Given the description of an element on the screen output the (x, y) to click on. 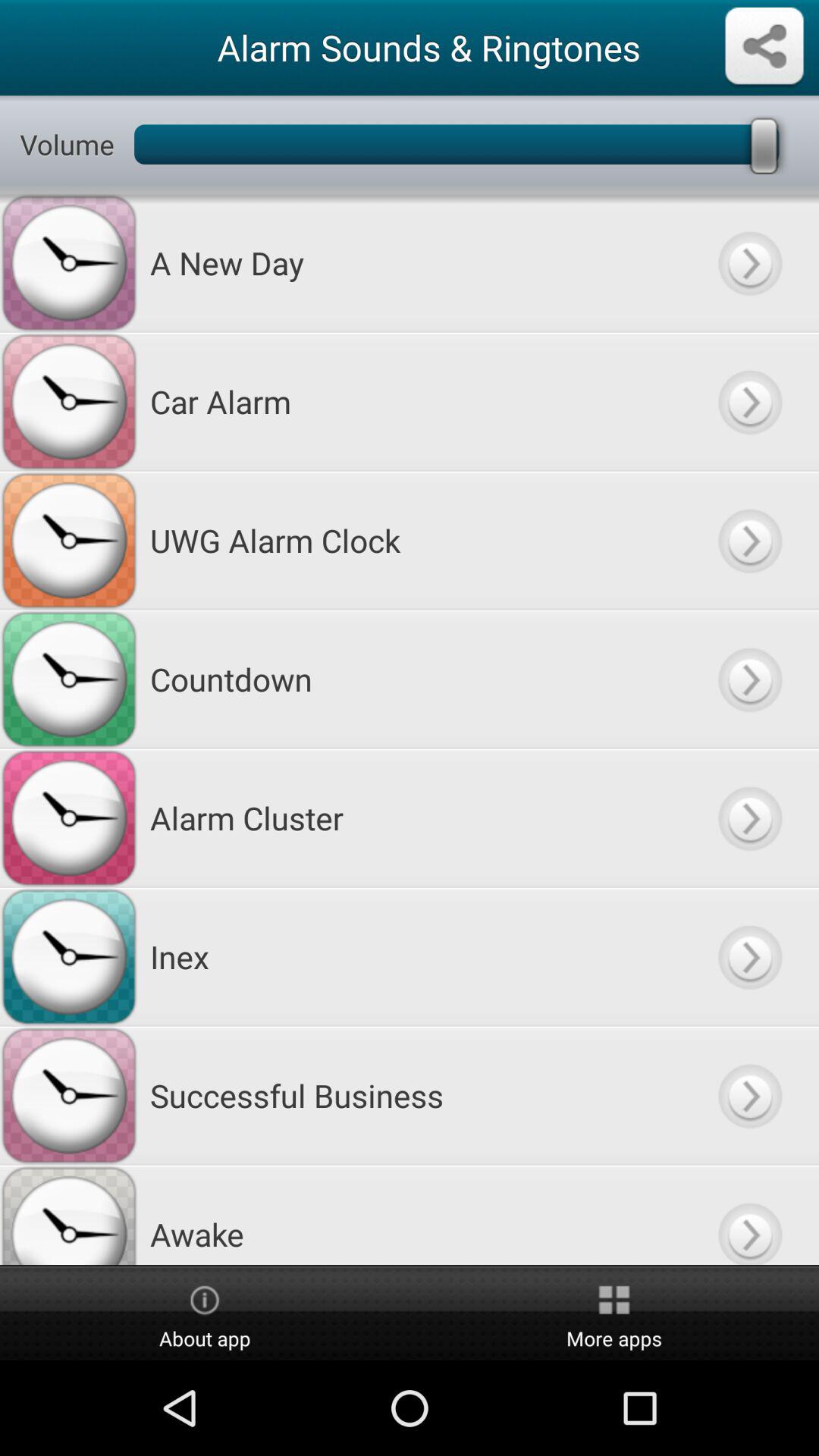
fackward (749, 818)
